Given the description of an element on the screen output the (x, y) to click on. 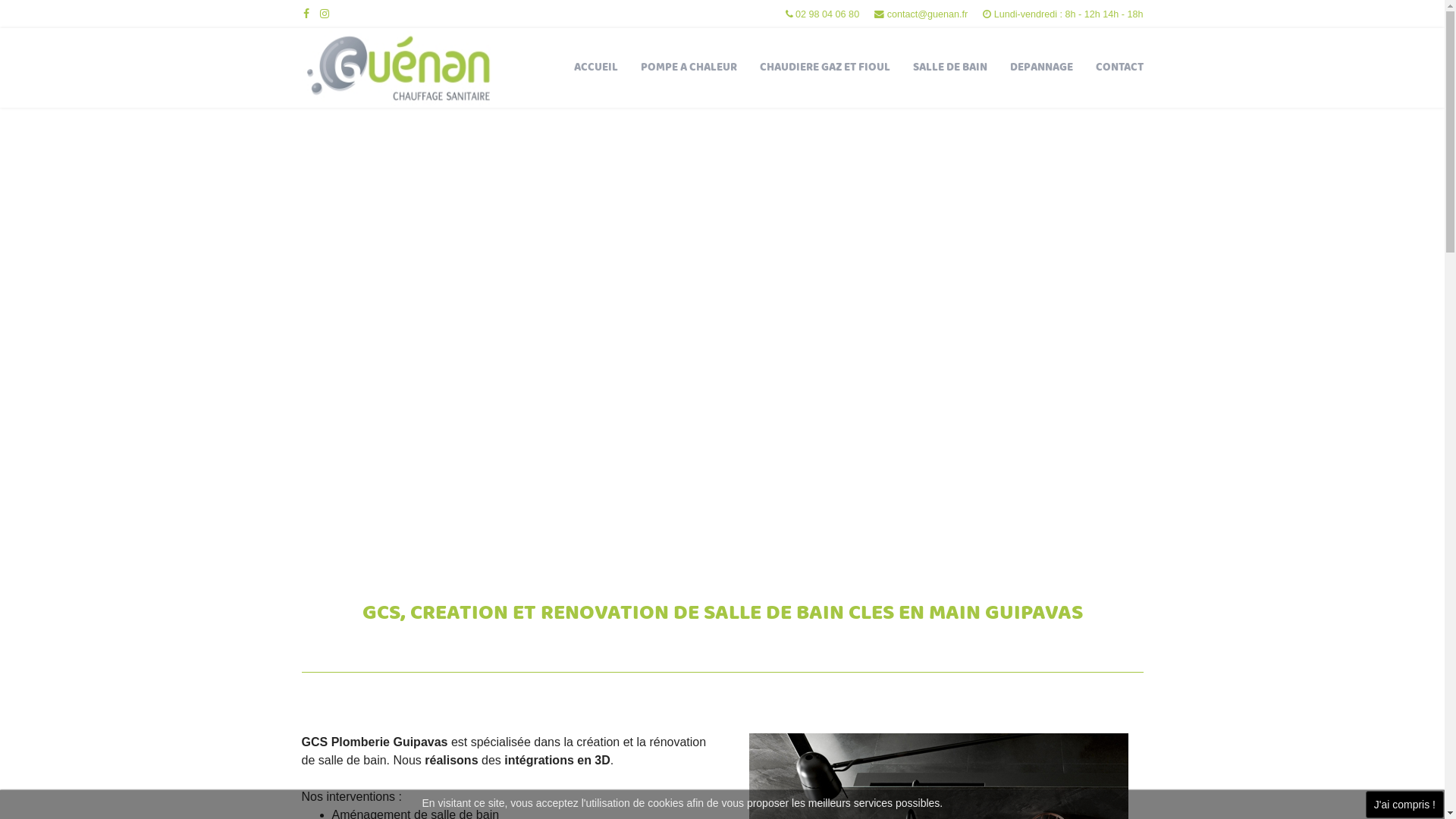
DEPANNAGE Element type: text (1040, 67)
02 98 04 06 80 Element type: text (827, 14)
SALLE DE BAIN Element type: text (948, 67)
J'ai compris ! Element type: text (1404, 804)
ACCUEIL Element type: text (595, 67)
CHAUDIERE GAZ ET FIOUL Element type: text (823, 67)
contact@guenan.fr Element type: text (927, 14)
CONTACT Element type: text (1119, 67)
POMPE A CHALEUR Element type: text (688, 67)
